Given the description of an element on the screen output the (x, y) to click on. 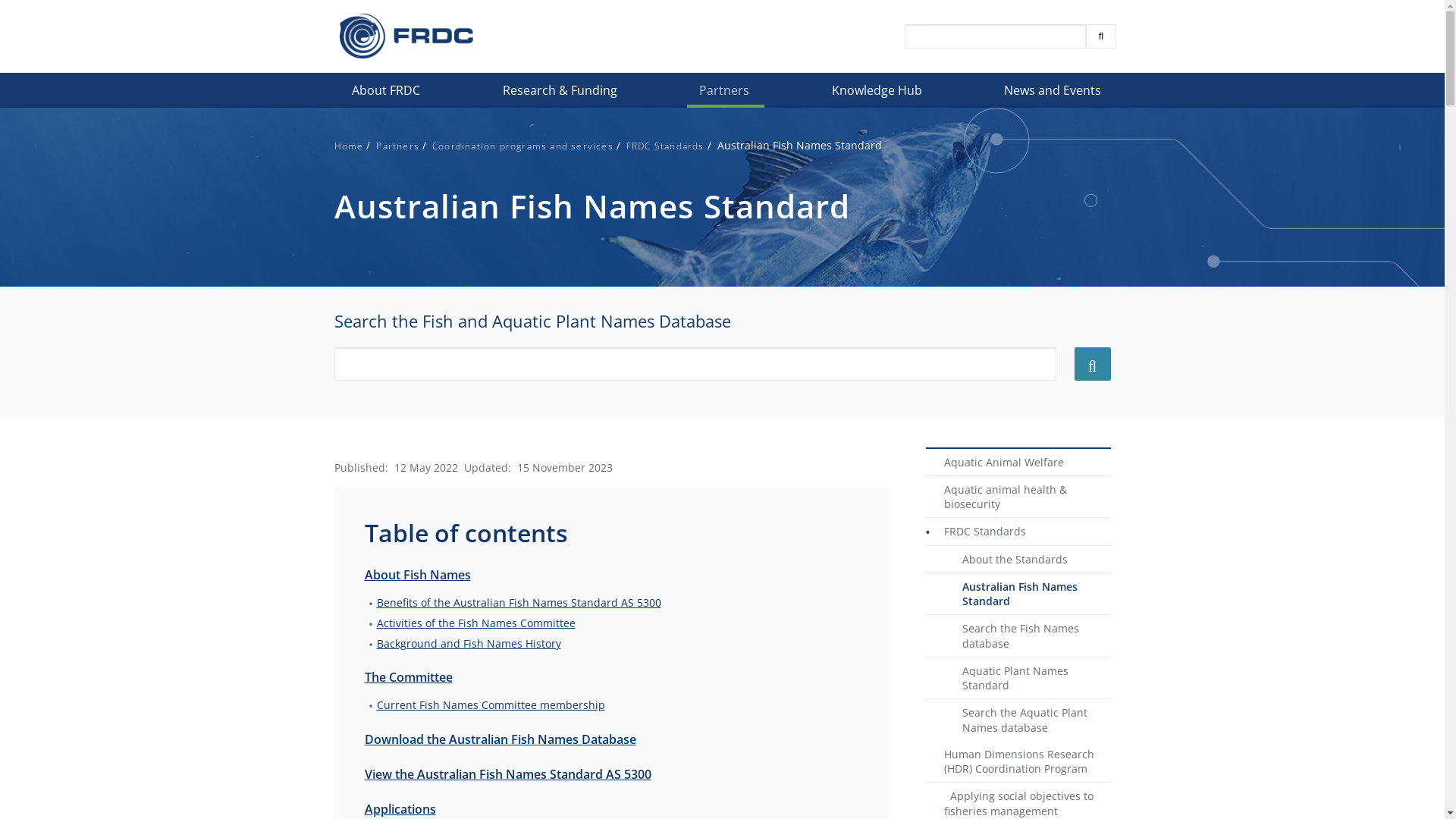
News and Events Element type: text (1053, 93)
Benefits of the Australian Fish Names Standard AS 5300 Element type: text (518, 601)
Research & Funding Element type: text (560, 93)
About FRDC Element type: text (387, 93)
Coordination programs and services Element type: text (522, 145)
Applications Element type: text (399, 808)
About Fish Names Element type: text (417, 573)
Aquatic Animal Welfare Element type: text (1017, 462)
Aquatic animal health & biosecurity Element type: text (1017, 497)
Partners Element type: text (725, 93)
Home Element type: hover (406, 36)
Background and Fish Names History Element type: text (468, 643)
FRDC Standards Element type: text (1017, 531)
Aquatic Plant Names Standard Element type: text (1017, 678)
View the Australian Fish Names Standard AS 5300 Element type: text (507, 773)
Human Dimensions Research (HDR) Coordination Program Element type: text (1017, 761)
Partners Element type: text (397, 145)
The Committee Element type: text (407, 676)
Activities of the Fish Names Committee Element type: text (475, 622)
Current Fish Names Committee membership Element type: text (490, 704)
Skip to main content Element type: text (0, 107)
Knowledge Hub Element type: text (877, 93)
Australian Fish Names Standard Element type: text (1017, 594)
About the Standards Element type: text (1017, 559)
FRDC Standards Element type: text (665, 145)
Search the Fish Names database Element type: text (1017, 636)
Download the Australian Fish Names Database Element type: text (499, 739)
Home Element type: text (348, 145)
Search the Aquatic Plant Names database Element type: text (1017, 719)
